Given the description of an element on the screen output the (x, y) to click on. 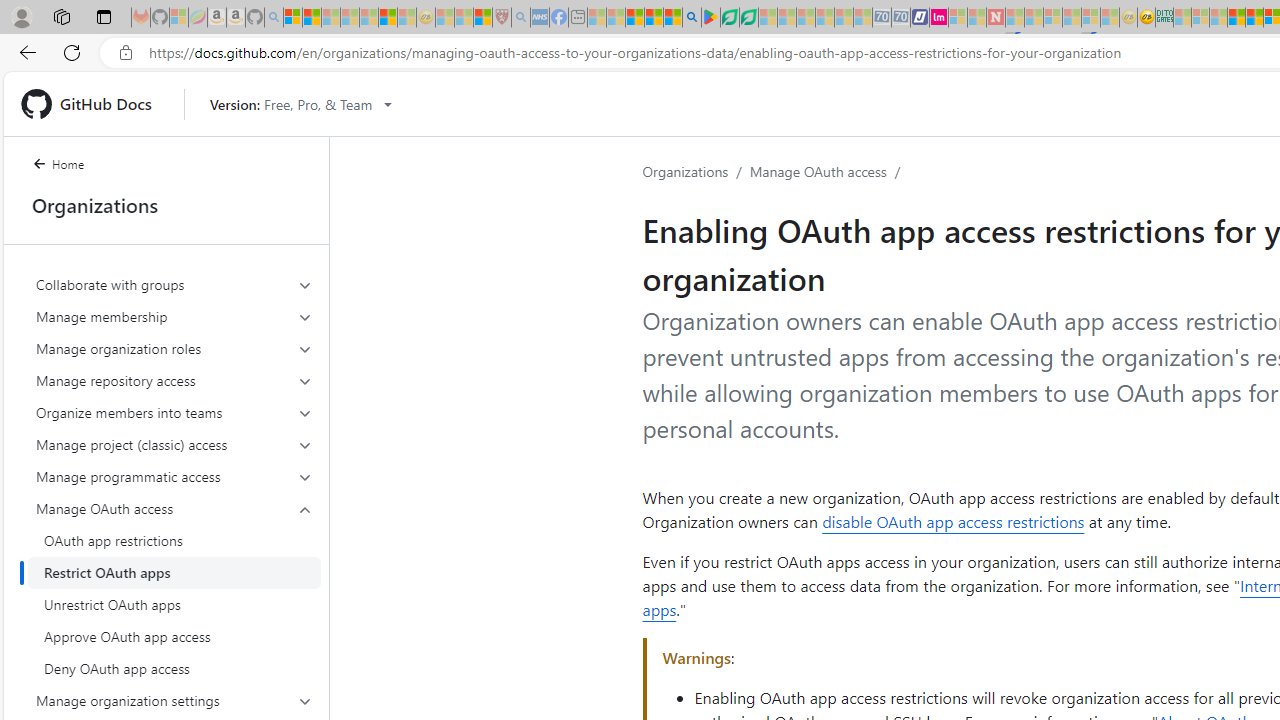
Microsoft account | Privacy - Sleeping (1200, 17)
Collaborate with groups (174, 284)
Refresh (72, 52)
Organizations (685, 171)
Recipes - MSN - Sleeping (445, 17)
Manage organization roles (174, 348)
Manage membership (174, 316)
Tab actions menu (104, 16)
Workspaces (61, 16)
Microsoft account | Privacy (293, 17)
New tab - Sleeping (578, 17)
Back (24, 52)
Manage OAuth access (817, 171)
The Weather Channel - MSN - Sleeping (331, 17)
